Given the description of an element on the screen output the (x, y) to click on. 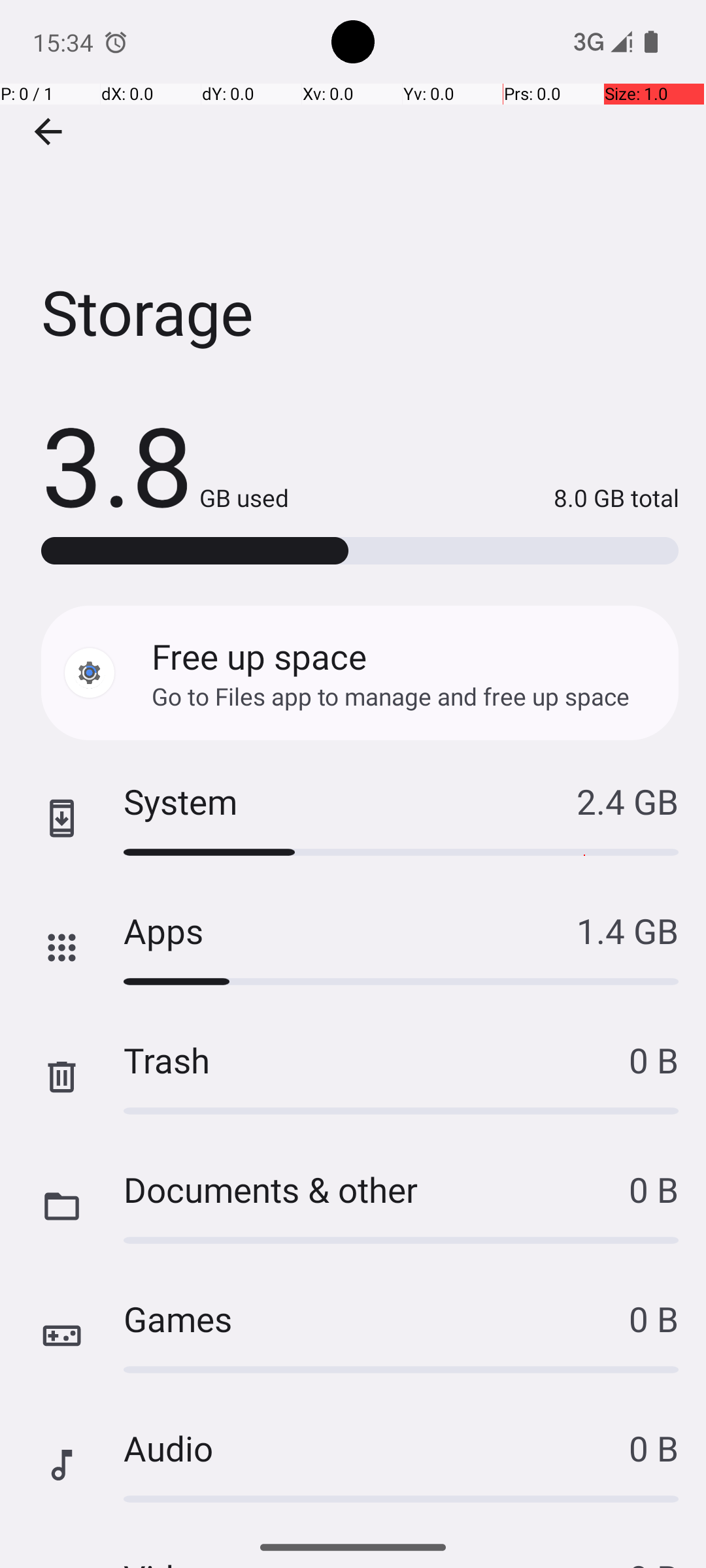
2.4 GB Element type: android.widget.TextView (627, 801)
